Given the description of an element on the screen output the (x, y) to click on. 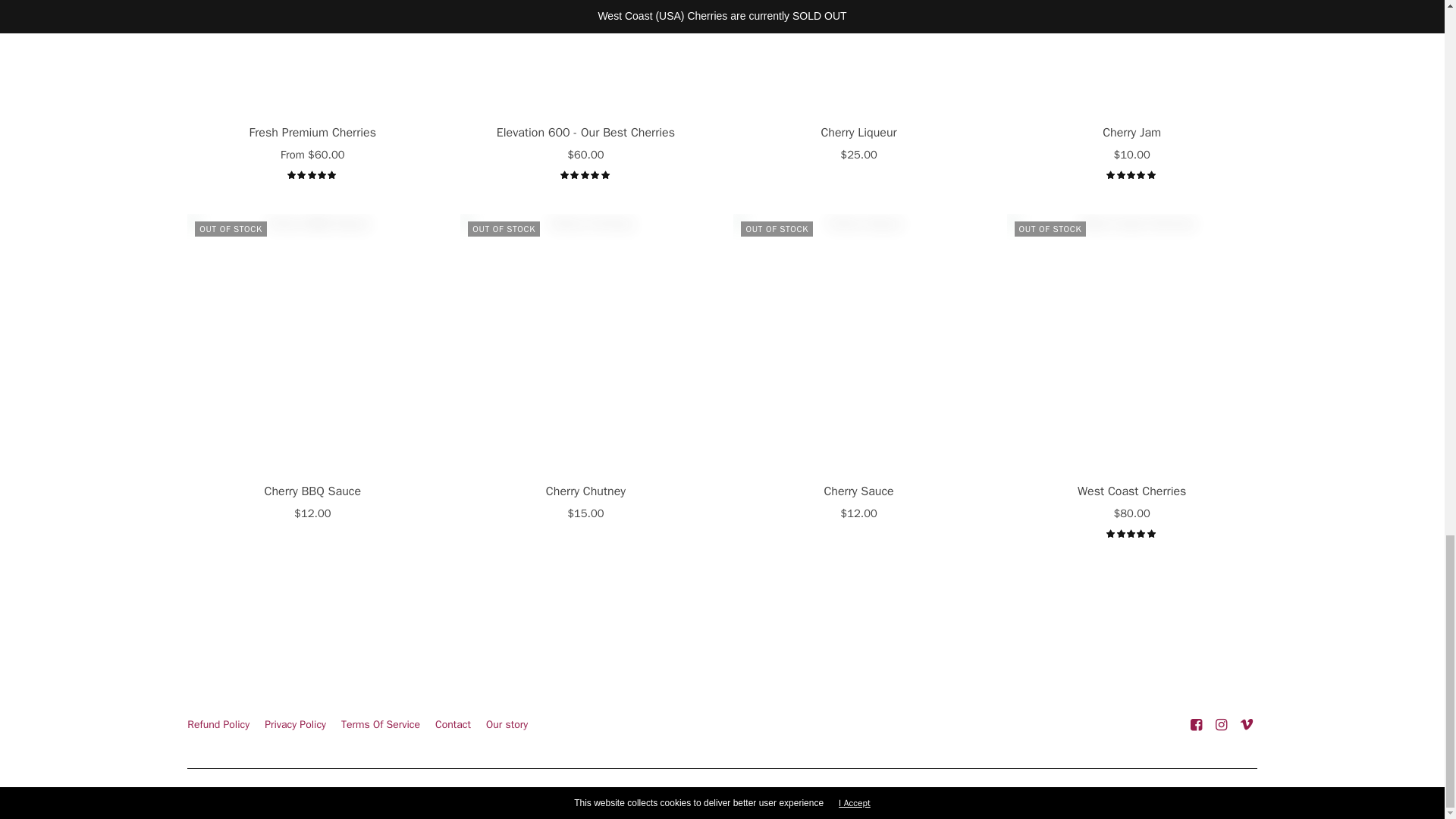
Visa (1244, 795)
Union Pay (1212, 795)
Apple Pay (1055, 795)
Mastercard (1117, 795)
Google Pay (1087, 795)
American Express (1023, 795)
PayPal (1149, 795)
Shop Pay (1181, 795)
